Given the description of an element on the screen output the (x, y) to click on. 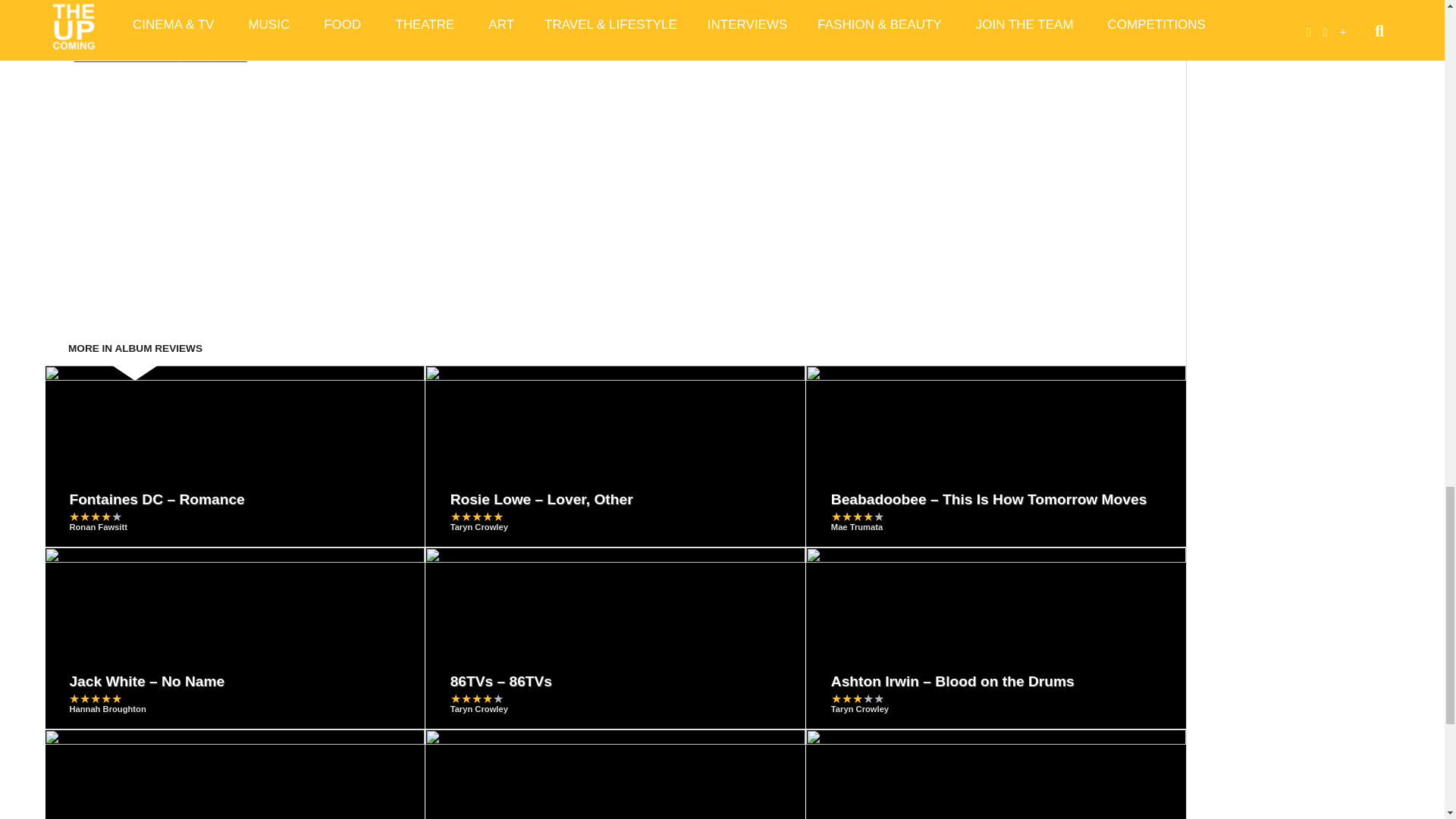
5 out of 5 stars (476, 516)
4 out of 5 stars (95, 516)
4 out of 5 stars (857, 516)
